Given the description of an element on the screen output the (x, y) to click on. 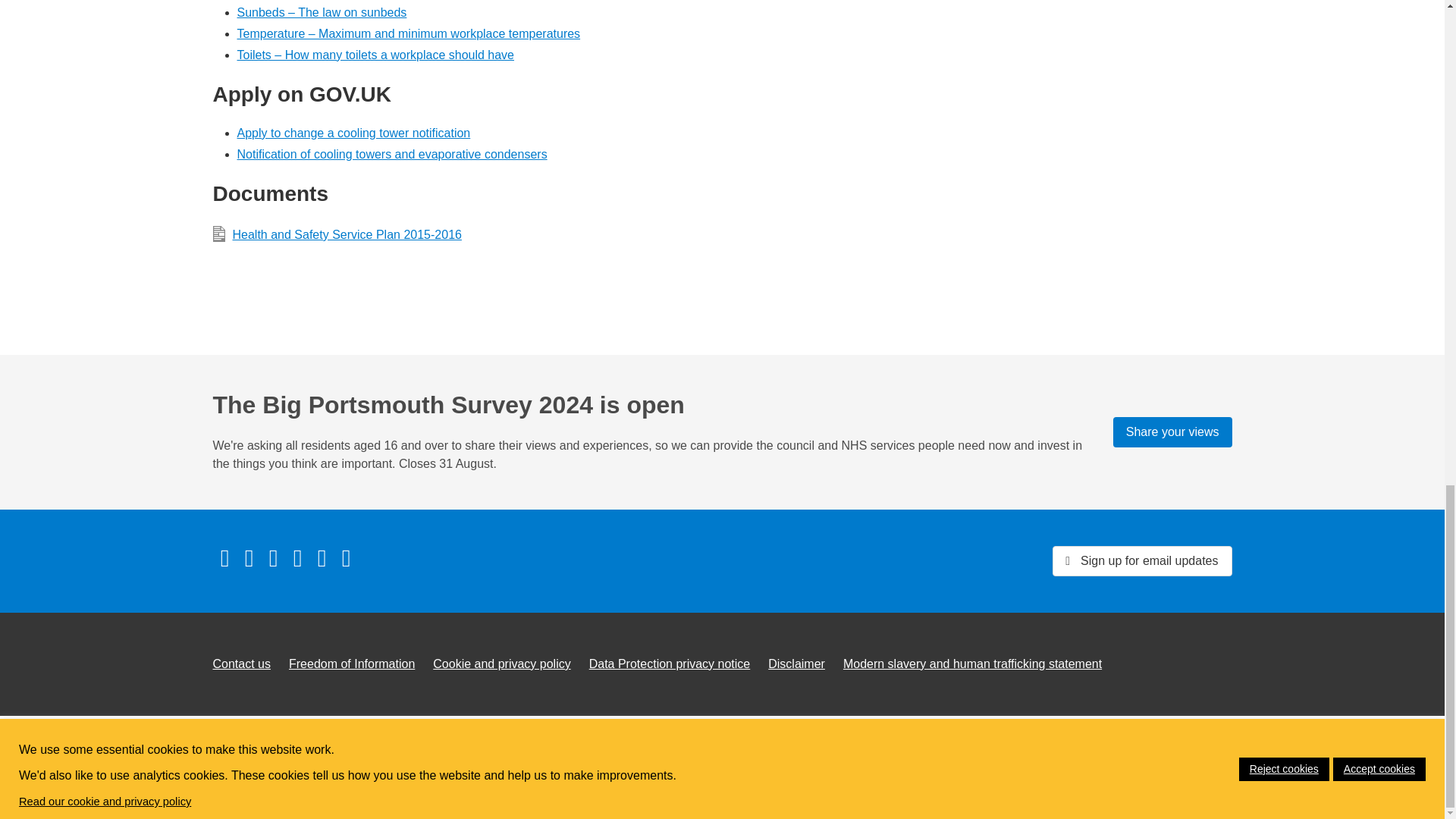
Health and Safety Service Plan 2015-2016 (592, 234)
Apply to change a cooling tower notification (352, 132)
Notification of cooling towers and evaporative condensers (391, 154)
